Given the description of an element on the screen output the (x, y) to click on. 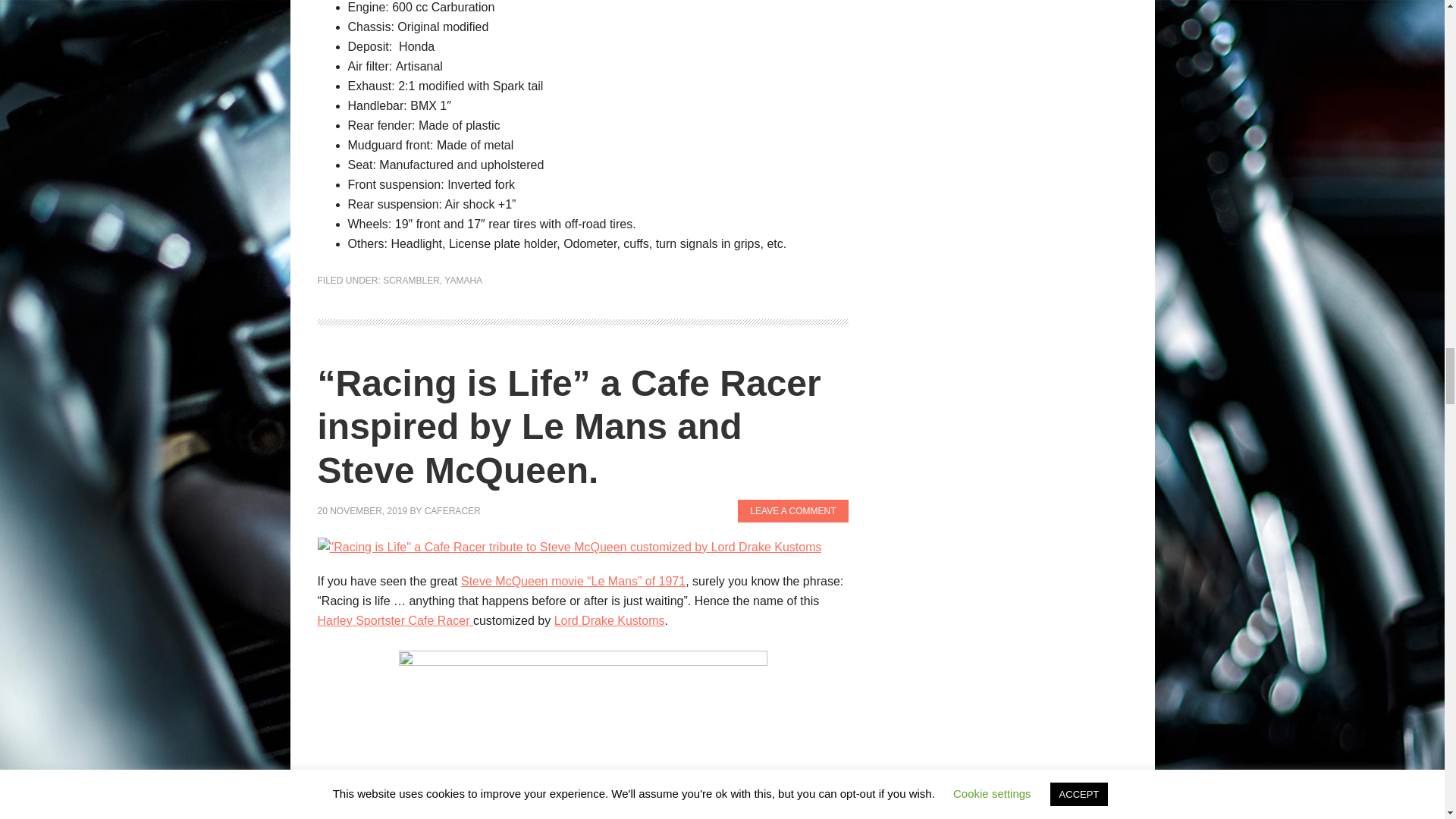
LEAVE A COMMENT (792, 510)
YAMAHA (462, 280)
SCRAMBLER (410, 280)
CAFERACER (452, 511)
